Given the description of an element on the screen output the (x, y) to click on. 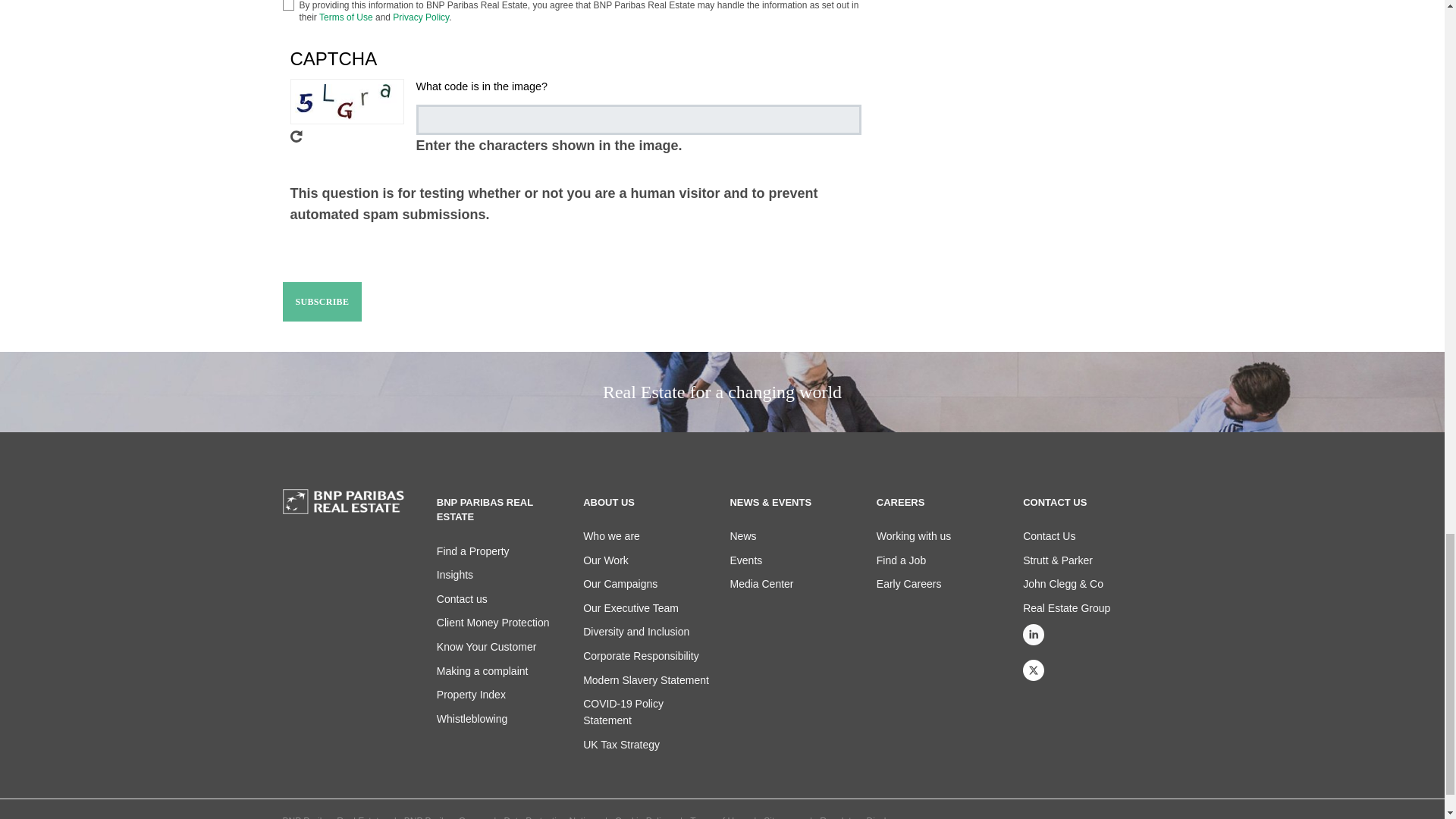
Modern Slavery Statement (646, 680)
Image CAPTCHA (346, 101)
Generate new CAPTCHA image (346, 136)
COVID-19 Policy Statement (623, 711)
